Given the description of an element on the screen output the (x, y) to click on. 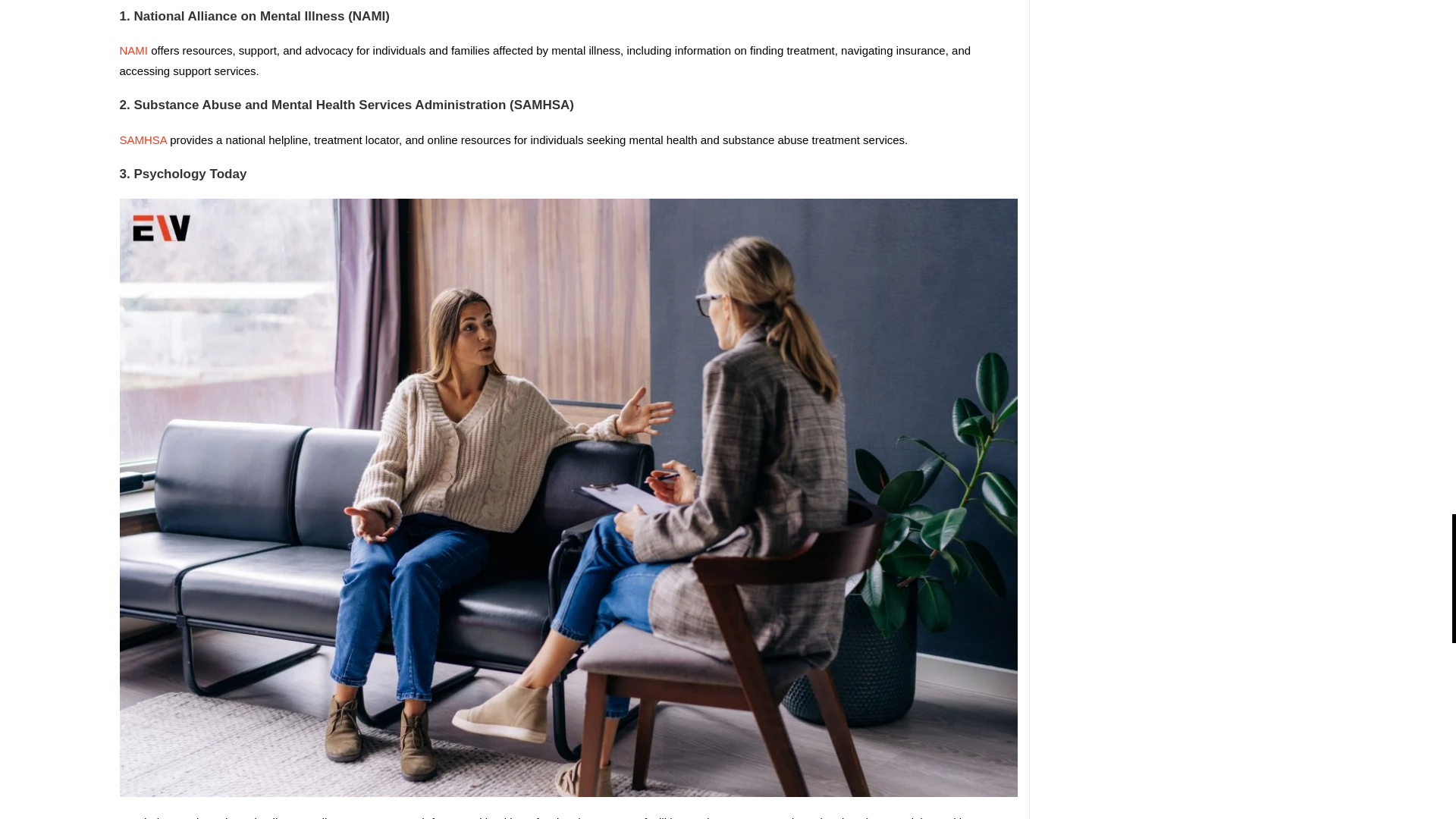
NAMI (135, 50)
SAMHSA (144, 139)
